Given the description of an element on the screen output the (x, y) to click on. 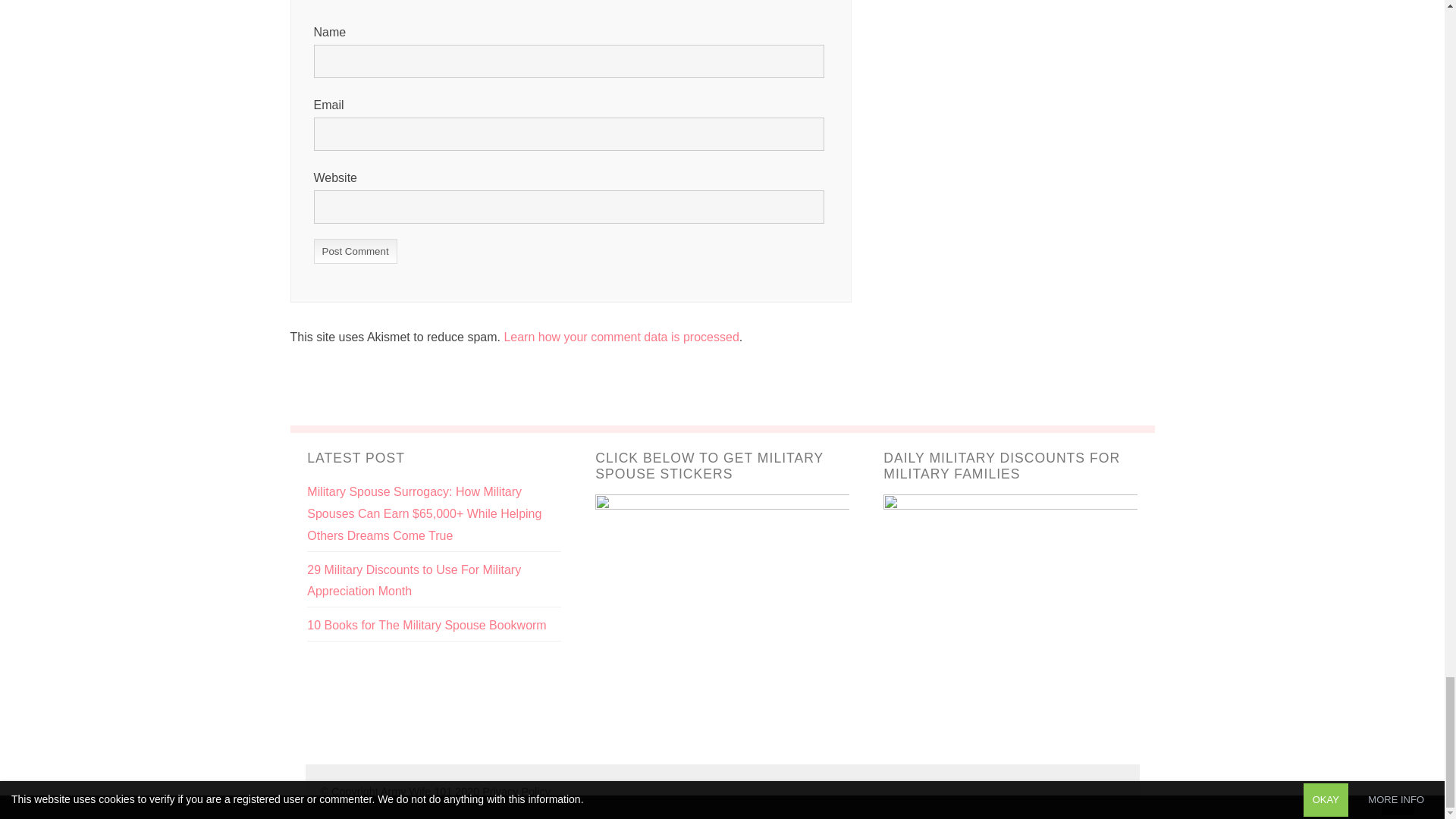
daily military discounts for military families (1010, 619)
Post Comment (355, 251)
